Given the description of an element on the screen output the (x, y) to click on. 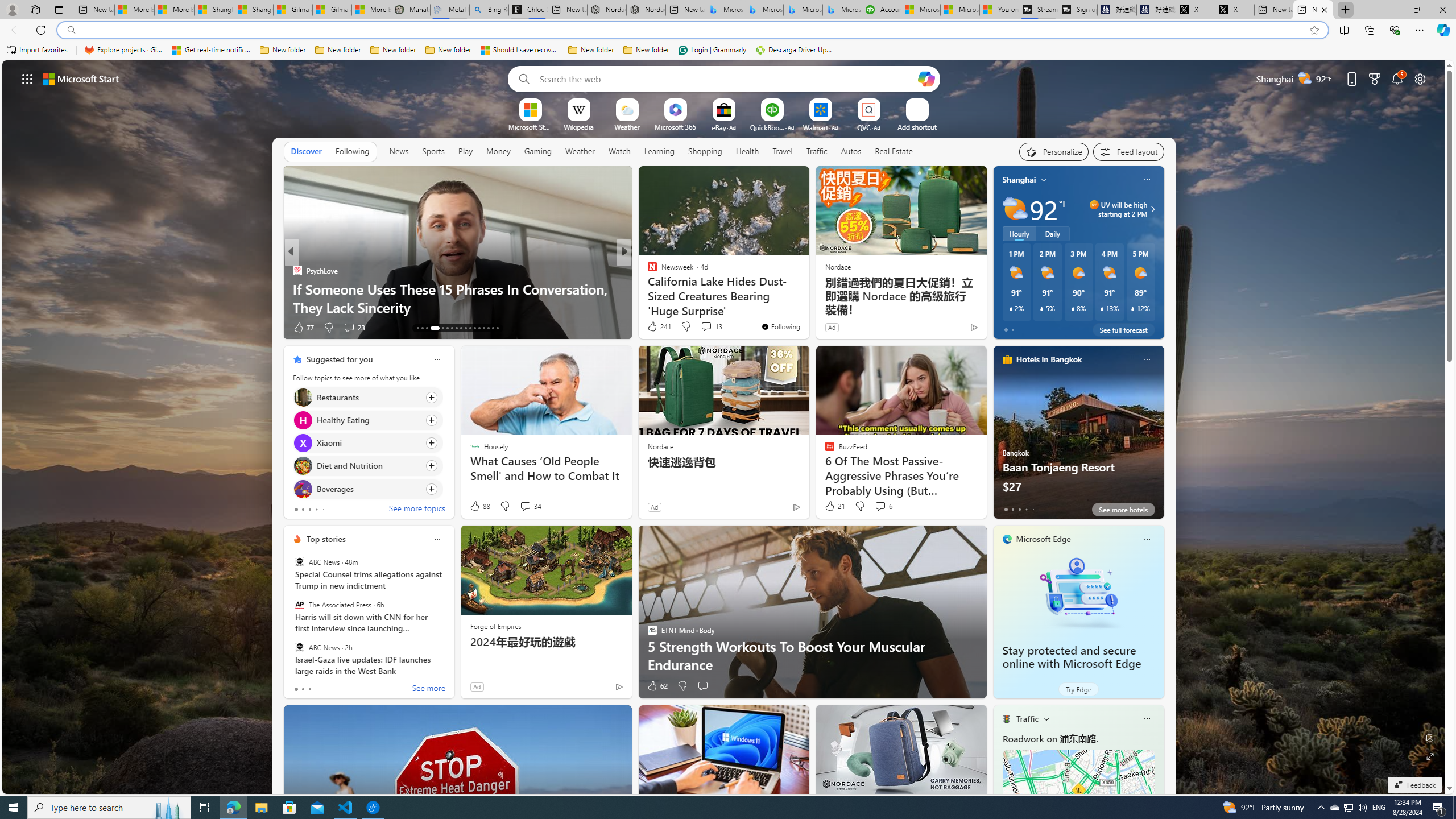
WMN Lives (647, 270)
View comments 22 Comment (703, 327)
AutomationID: tab-13 (417, 328)
View comments 18 Comment (703, 327)
TODAY (647, 270)
Accounting Software for Accountants, CPAs and Bookkeepers (881, 9)
16 Phrases That Can Make You Sound Less Smart (807, 307)
